Given the description of an element on the screen output the (x, y) to click on. 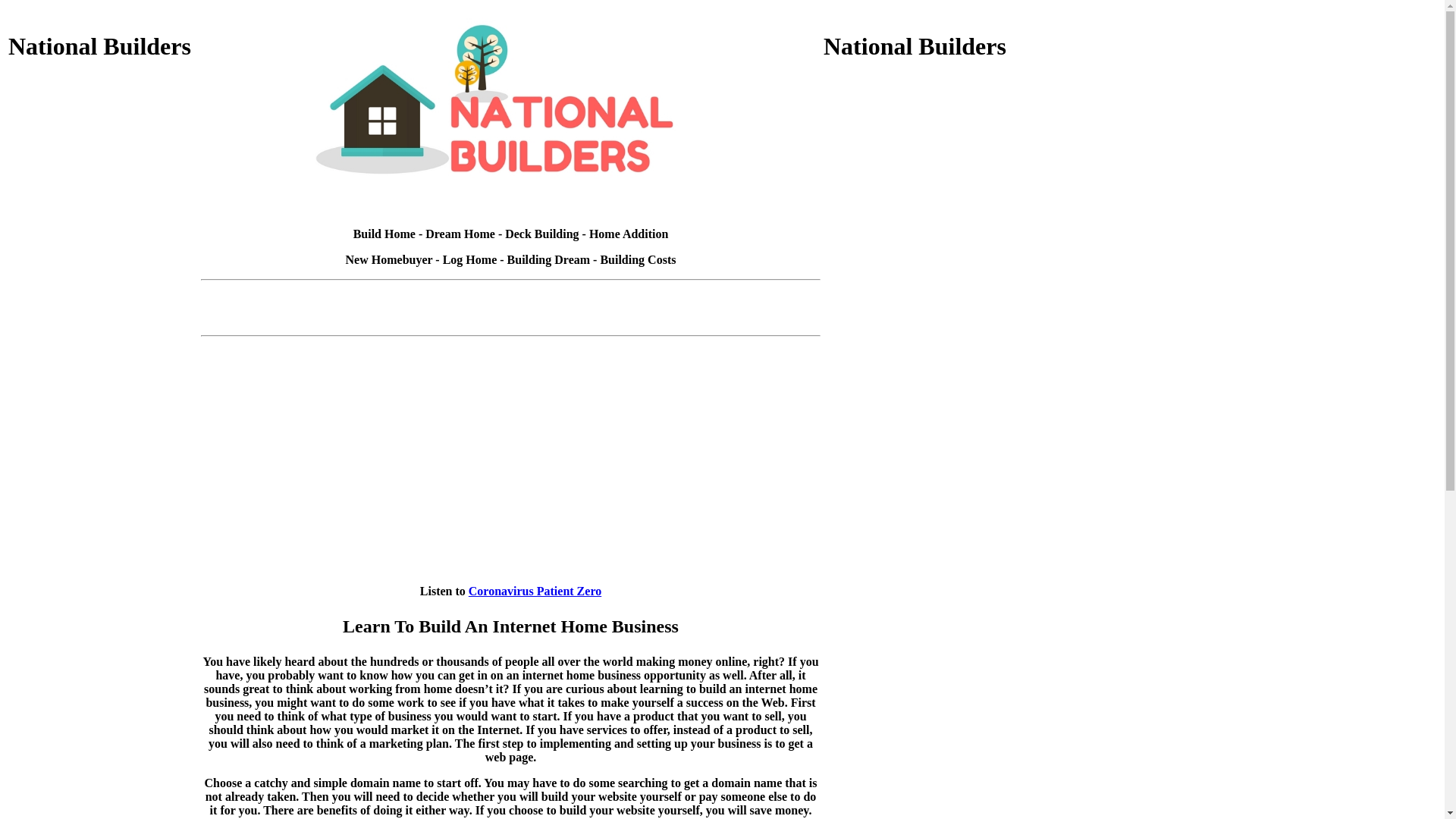
Advertisement Element type: hover (102, 385)
Coronavirus Patient Zero Element type: text (534, 590)
Advertisement Element type: hover (918, 179)
Advertisement Element type: hover (918, 385)
Dream Home Element type: text (460, 233)
New Homebuyer Element type: text (389, 259)
Advertisement Element type: hover (511, 292)
Advertisement Element type: hover (102, 592)
Log Home Element type: text (469, 259)
Building Costs Element type: text (637, 259)
Advertisement Element type: hover (918, 592)
Building Dream Element type: text (548, 259)
Advertisement Element type: hover (102, 179)
Deck Building Element type: text (541, 233)
Advertisement Element type: hover (511, 320)
Build Home Element type: text (384, 233)
Home Addition Element type: text (628, 233)
